Given the description of an element on the screen output the (x, y) to click on. 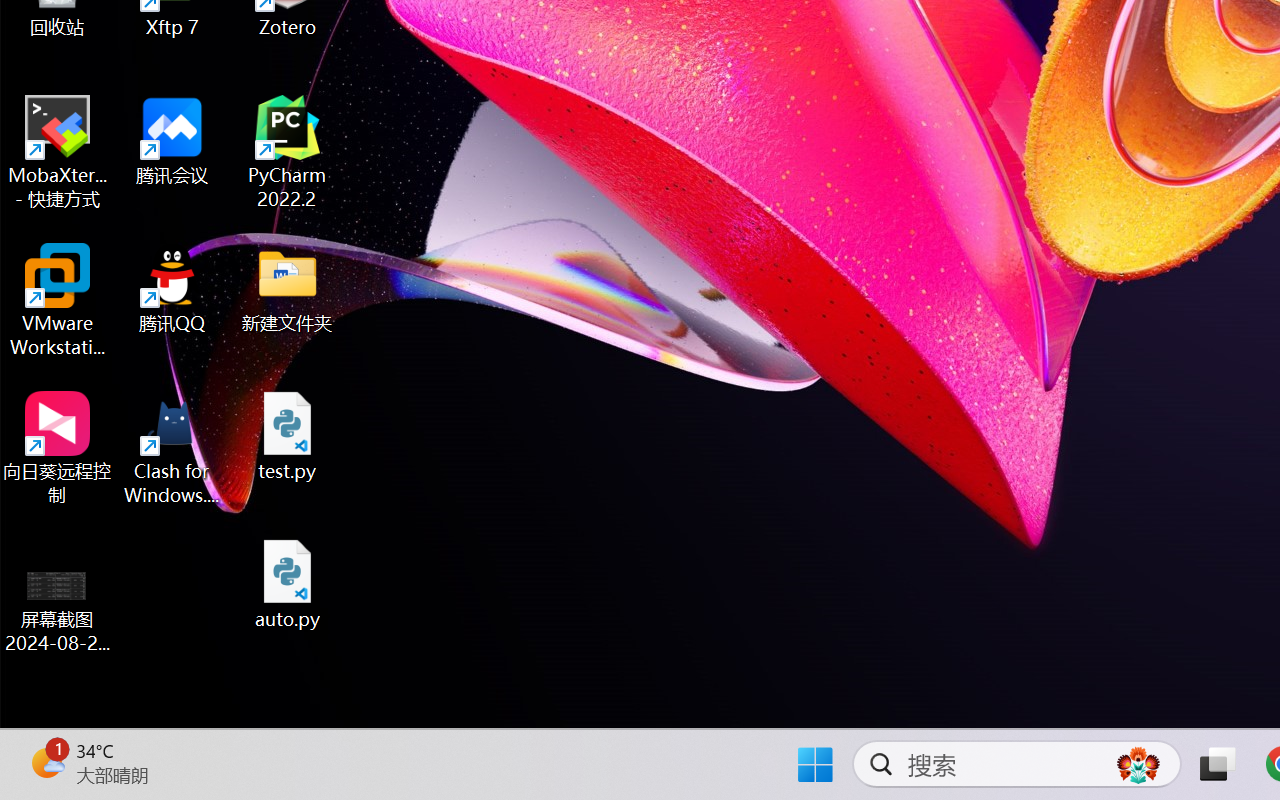
PyCharm 2022.2 (287, 152)
VMware Workstation Pro (57, 300)
test.py (287, 436)
auto.py (287, 584)
